Given the description of an element on the screen output the (x, y) to click on. 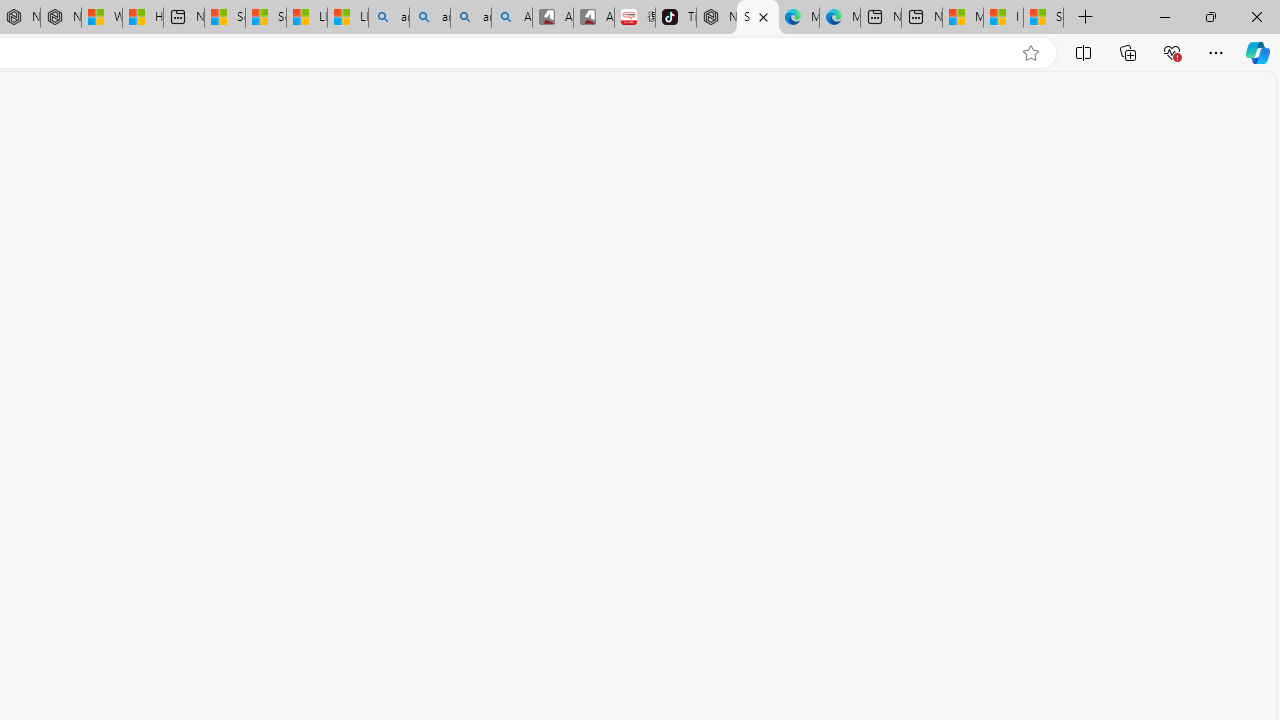
Settings (758, 17)
I Gained 20 Pounds of Muscle in 30 Days! | Watch (1003, 17)
Huge shark washes ashore at New York City beach | Watch (142, 17)
Amazon Echo Robot - Search Images (511, 17)
